Given the description of an element on the screen output the (x, y) to click on. 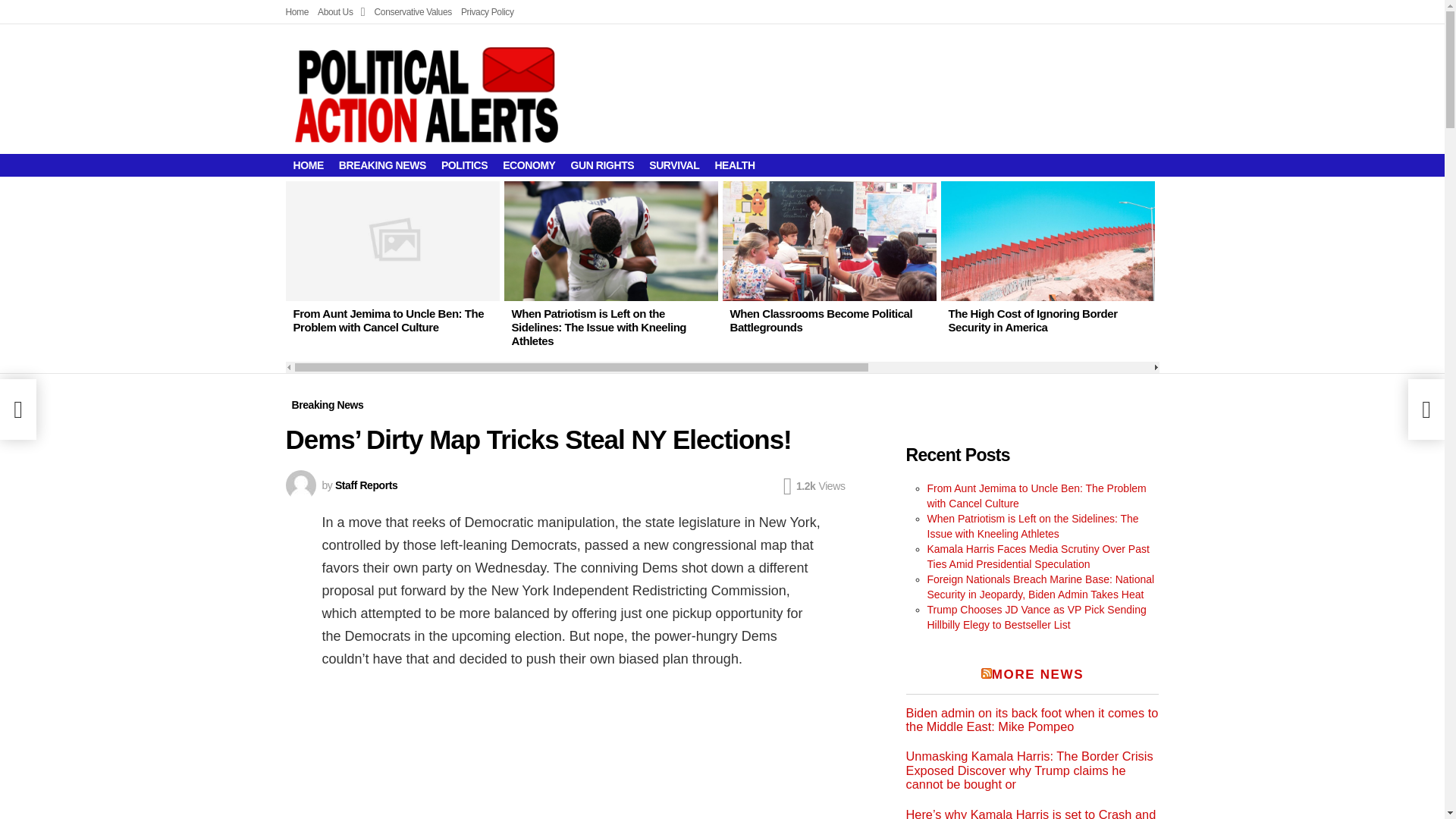
HOME (307, 164)
ECONOMY (528, 164)
POLITICS (464, 164)
The High Cost of Ignoring Border Security in America (1031, 320)
About Us (341, 12)
When Classrooms Become Political Battlegrounds (820, 320)
Home (296, 12)
When Classrooms Become Political Battlegrounds (829, 240)
GUN RIGHTS (602, 164)
Breaking News (327, 404)
SURVIVAL (674, 164)
Privacy Policy (487, 12)
